Given the description of an element on the screen output the (x, y) to click on. 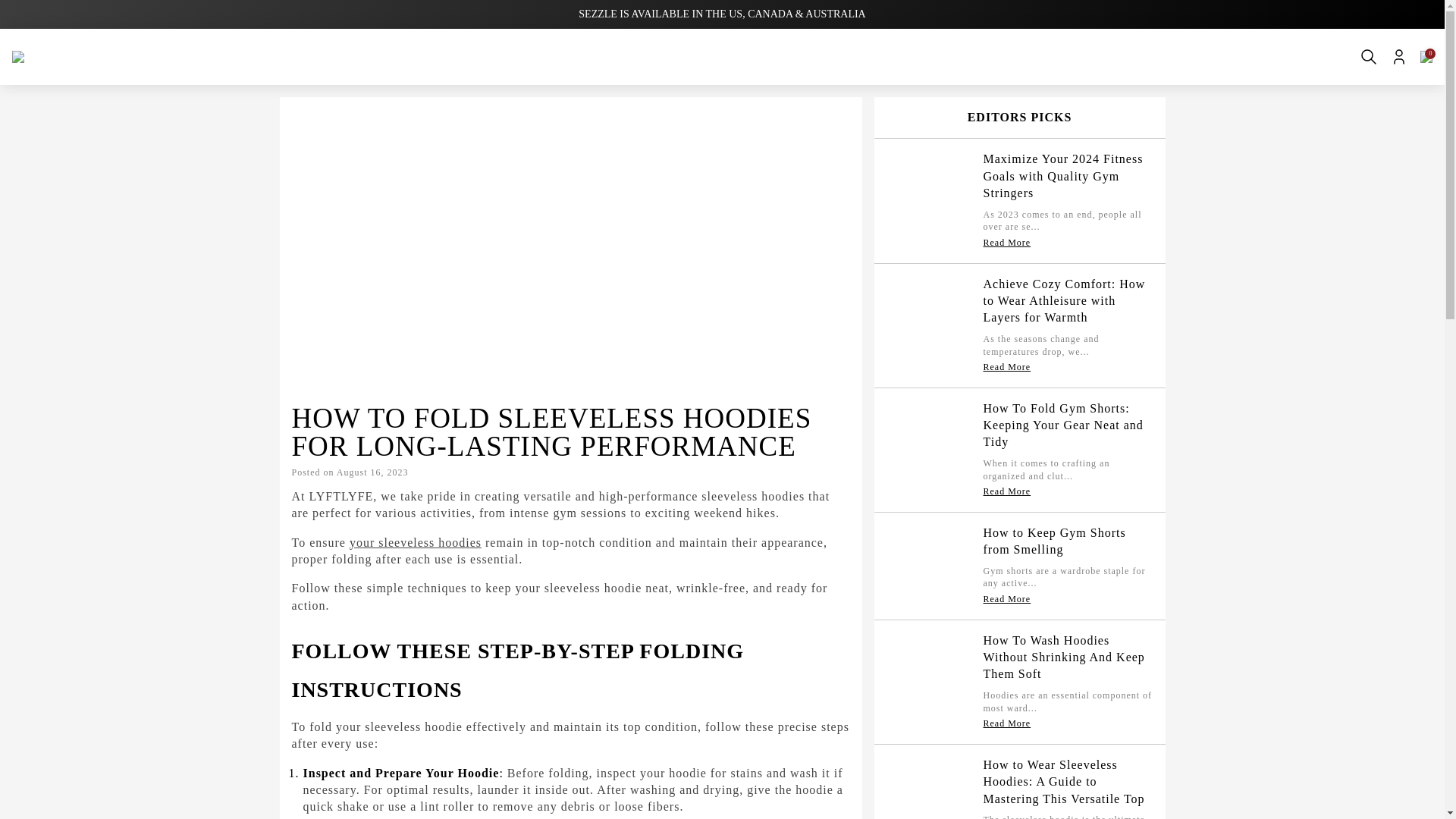
Read More (1006, 491)
Read More (1006, 723)
Read More (1006, 366)
Read More (1006, 598)
your sleeveless hoodies (415, 542)
Read More (1006, 242)
